Given the description of an element on the screen output the (x, y) to click on. 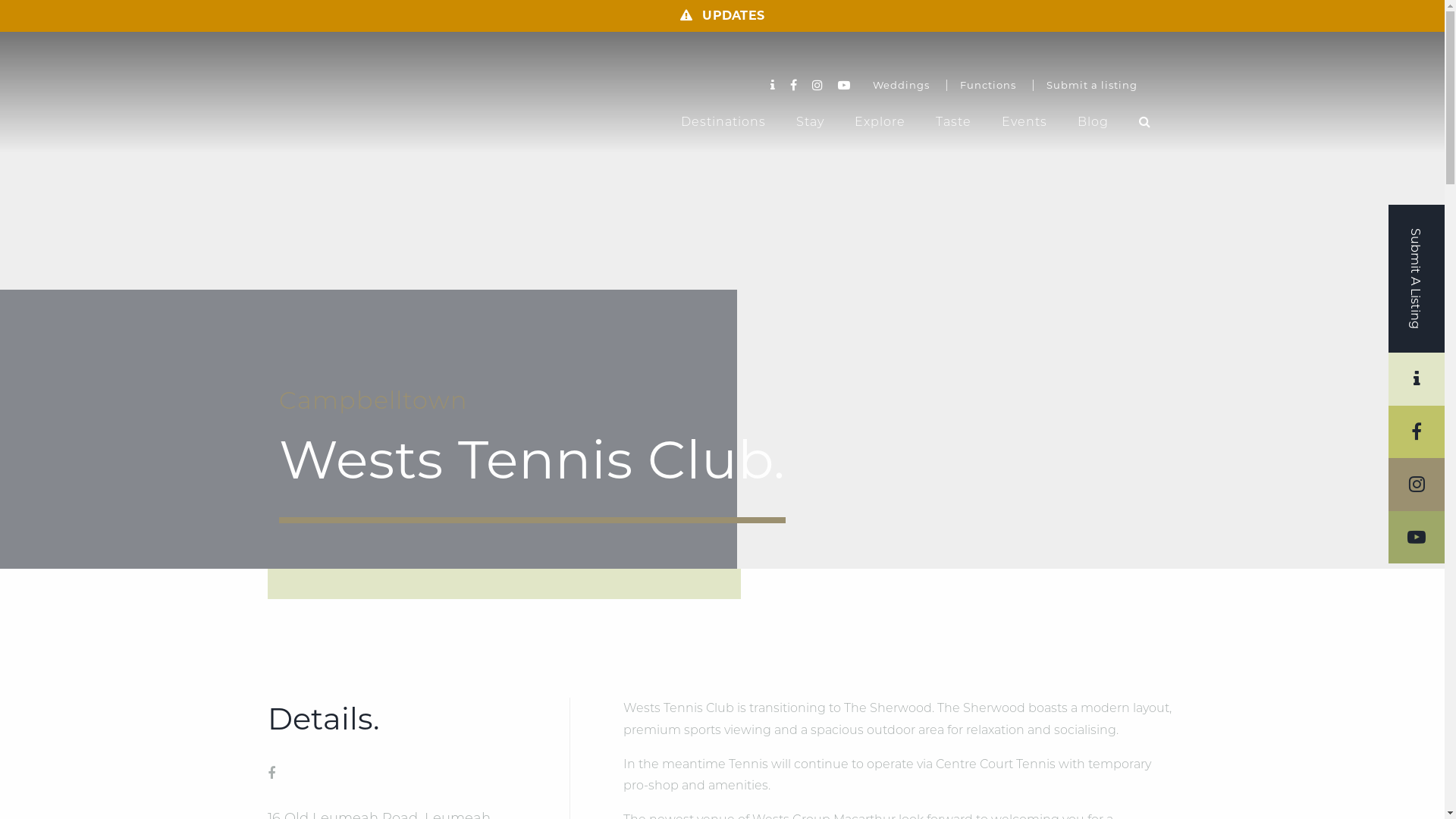
Submit A Listing Element type: text (1416, 278)
Destinations Element type: text (723, 122)
Blog Element type: text (1092, 122)
Explore Element type: text (879, 122)
facebook Element type: hover (270, 773)
Functions Element type: text (987, 85)
Macarthur Element type: text (392, 104)
Events Element type: text (1024, 122)
Submit a listing Element type: text (1091, 85)
Stay Element type: text (810, 122)
Weddings Element type: text (900, 85)
UPDATES Element type: text (722, 15)
Taste Element type: text (953, 122)
